Given the description of an element on the screen output the (x, y) to click on. 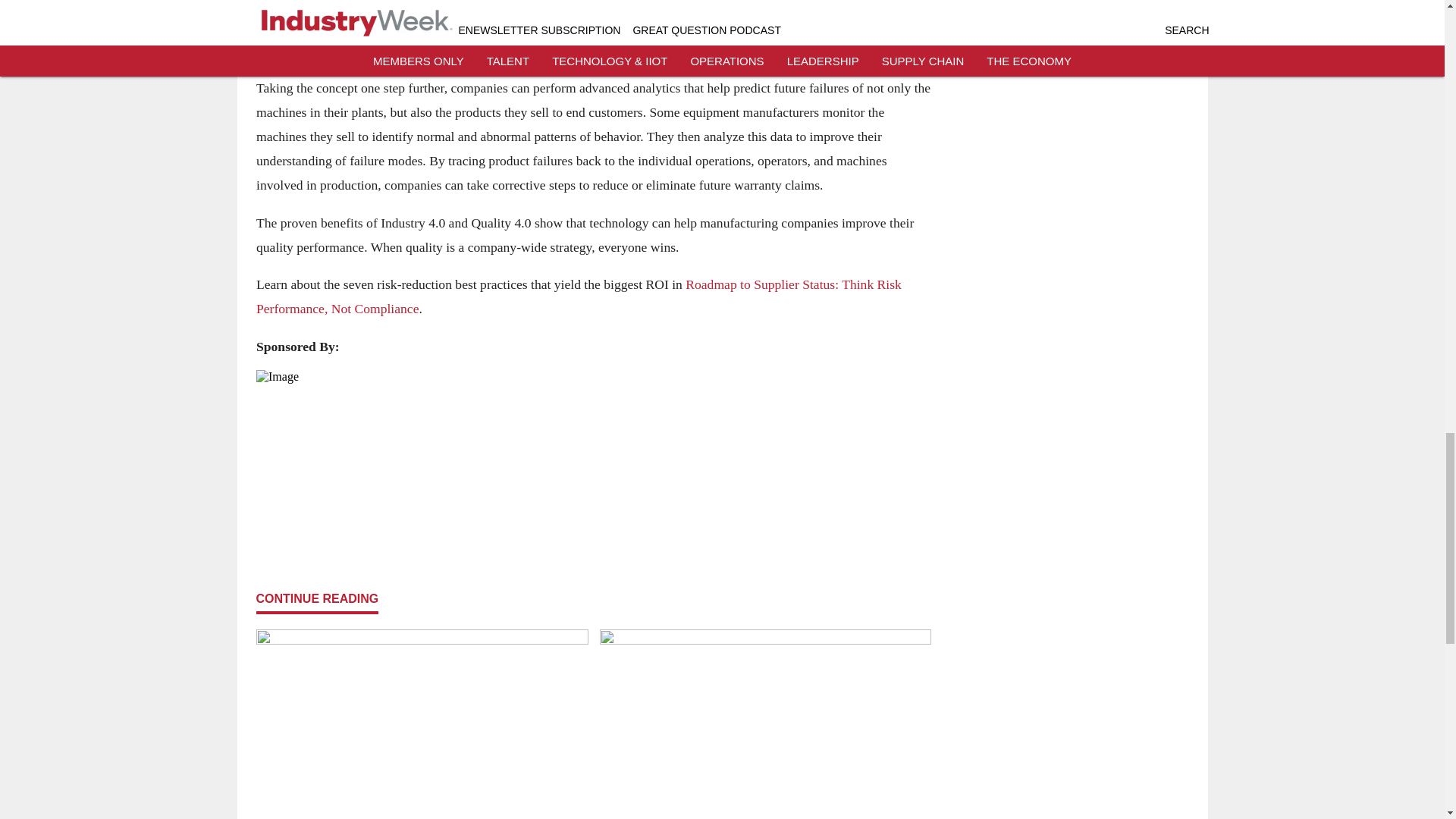
Image (593, 454)
